Given the description of an element on the screen output the (x, y) to click on. 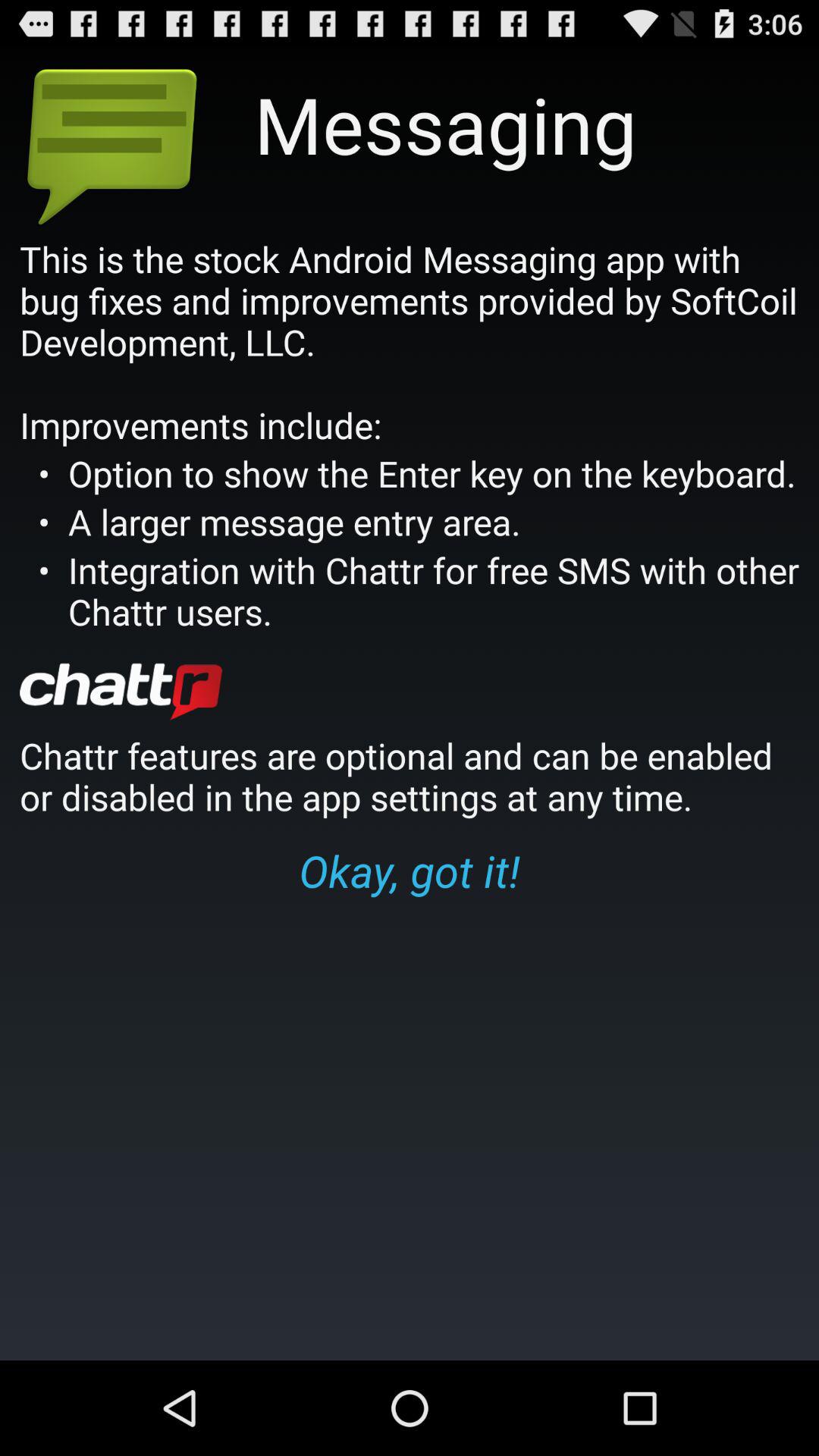
swipe to the okay, got it! (409, 870)
